Given the description of an element on the screen output the (x, y) to click on. 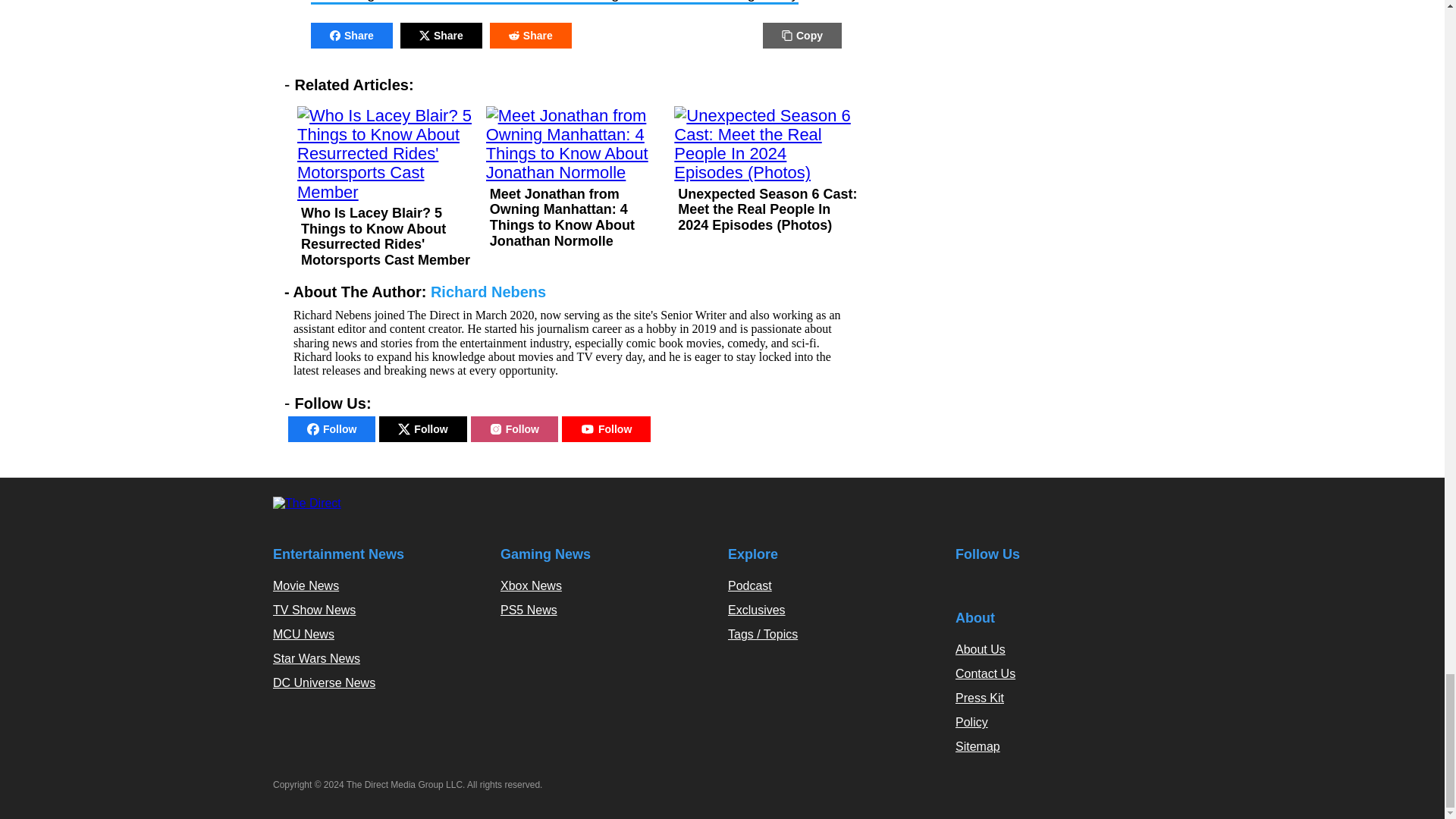
Share on Reddit (530, 35)
